Given the description of an element on the screen output the (x, y) to click on. 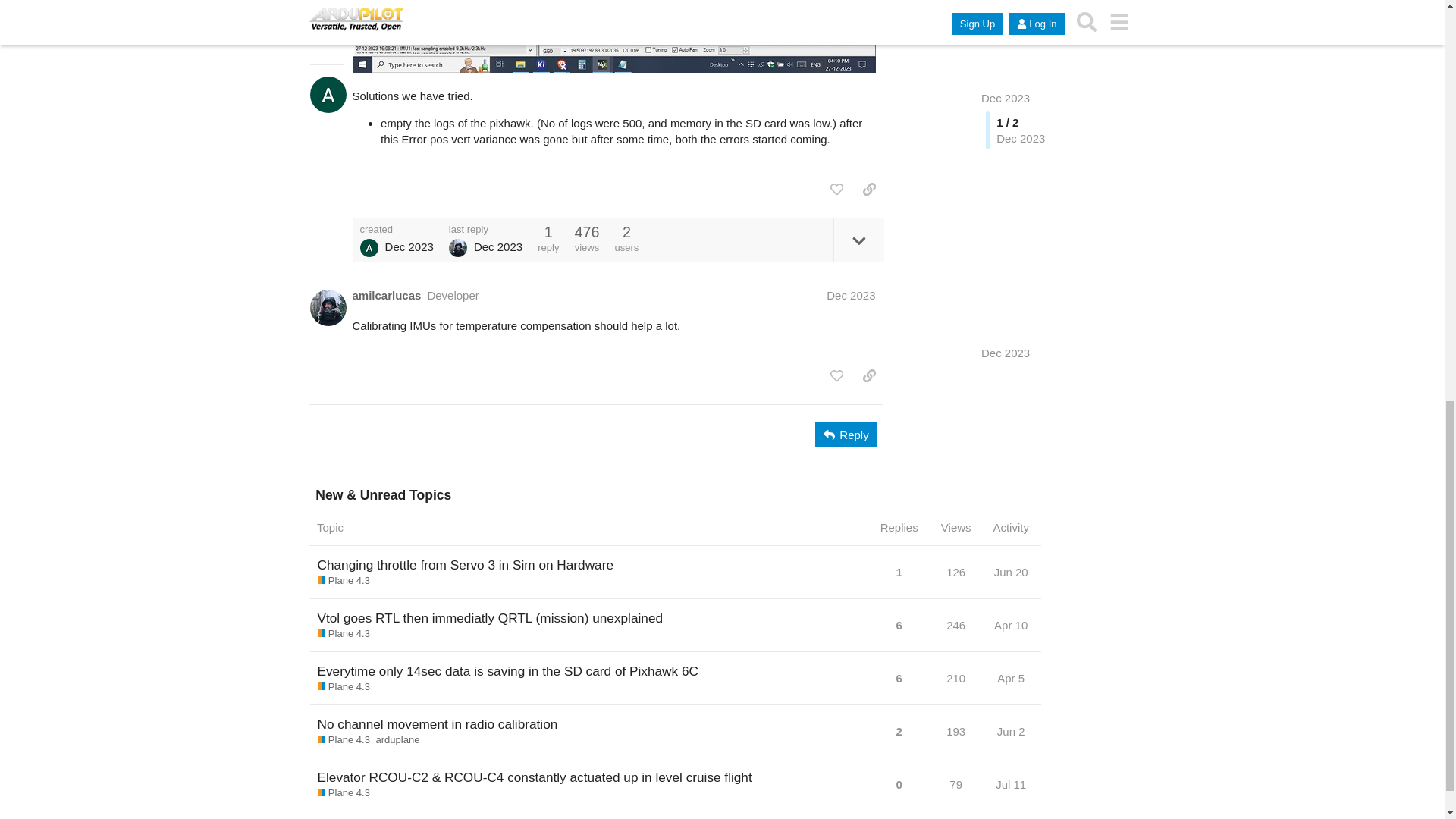
Developer (452, 295)
Dec 28, 2023 2:28 pm (409, 246)
like this post (836, 189)
copy a link to this post to clipboard (869, 189)
expand topic details (857, 240)
Ashesh Rai (368, 248)
last reply (485, 229)
amilcarlucas (386, 295)
